Given the description of an element on the screen output the (x, y) to click on. 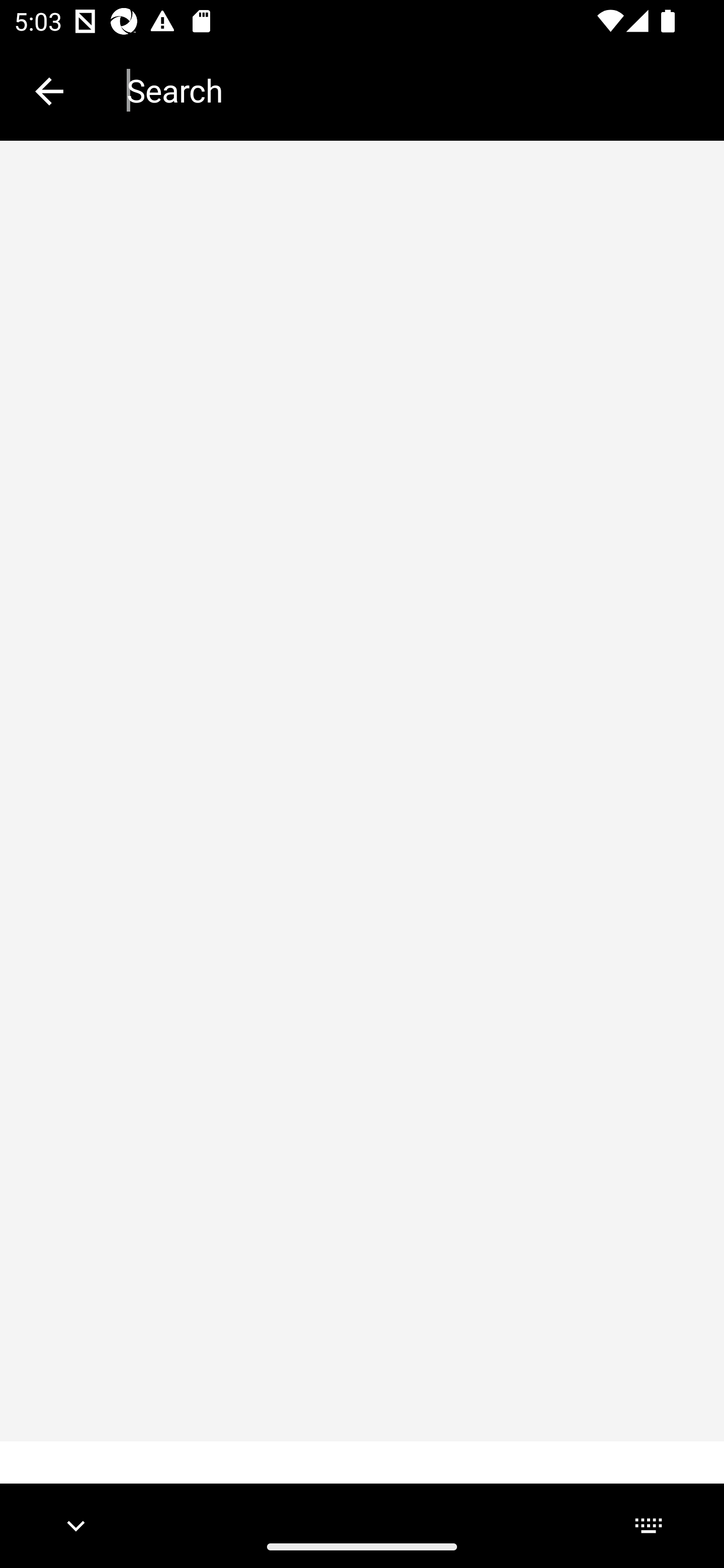
Collapse (49, 91)
Search (411, 90)
